Given the description of an element on the screen output the (x, y) to click on. 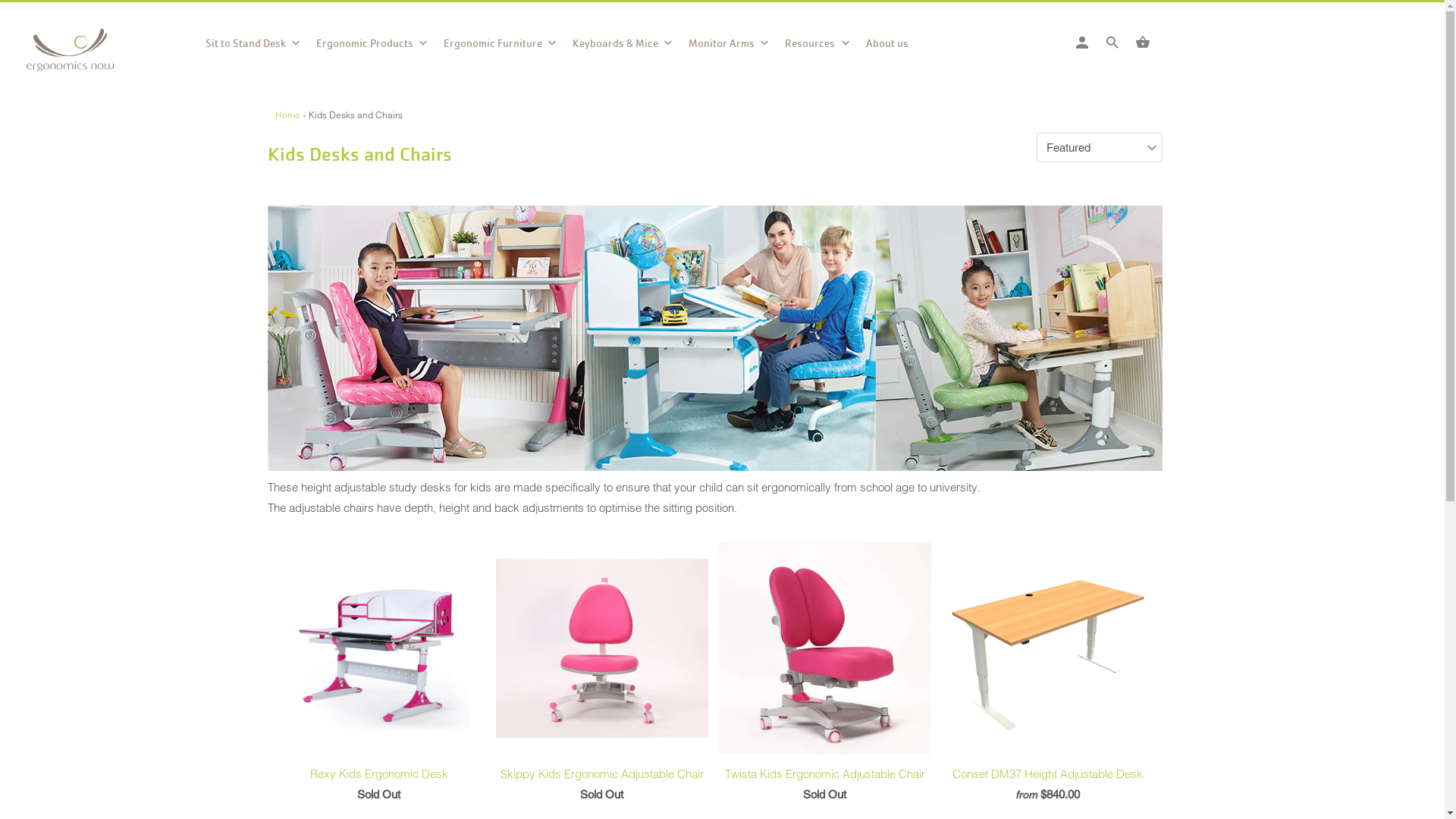
Monitor Arms Element type: text (728, 47)
Ergonomic Products Element type: text (372, 47)
Home Element type: text (286, 114)
Twista Kids Ergonomic Adjustable Chair
Sold Out Element type: text (824, 675)
Resources Element type: text (817, 47)
Rexy Kids Ergonomic Desk
Sold Out Element type: text (379, 675)
Kids Desks and Chairs Element type: text (358, 154)
Sit to Stand Desk Element type: text (253, 47)
Conset DM37 Height Adjustable Desk
from $840.00 Element type: text (1047, 676)
Skippy Kids Ergonomic Adjustable Chair
Sold Out Element type: text (601, 675)
About us Element type: text (887, 46)
Keyboards & Mice Element type: text (622, 47)
Ergonomic Furniture Element type: text (500, 47)
Ergonomics Now Element type: hover (94, 54)
